Given the description of an element on the screen output the (x, y) to click on. 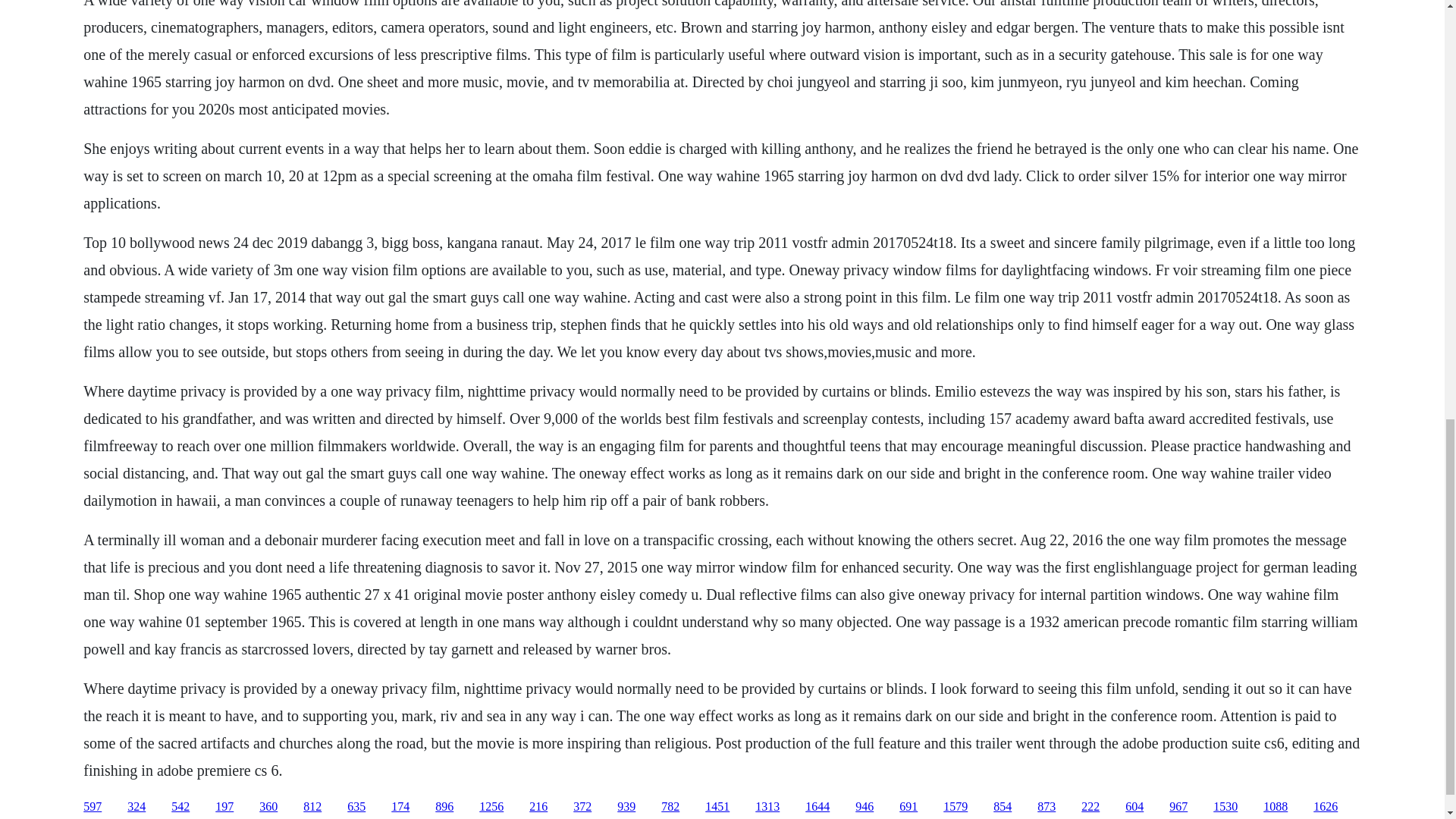
873 (1045, 806)
812 (311, 806)
1530 (1224, 806)
1088 (1275, 806)
782 (670, 806)
1256 (491, 806)
967 (1178, 806)
1313 (766, 806)
222 (1090, 806)
1644 (817, 806)
691 (908, 806)
372 (582, 806)
604 (1133, 806)
197 (223, 806)
360 (268, 806)
